Given the description of an element on the screen output the (x, y) to click on. 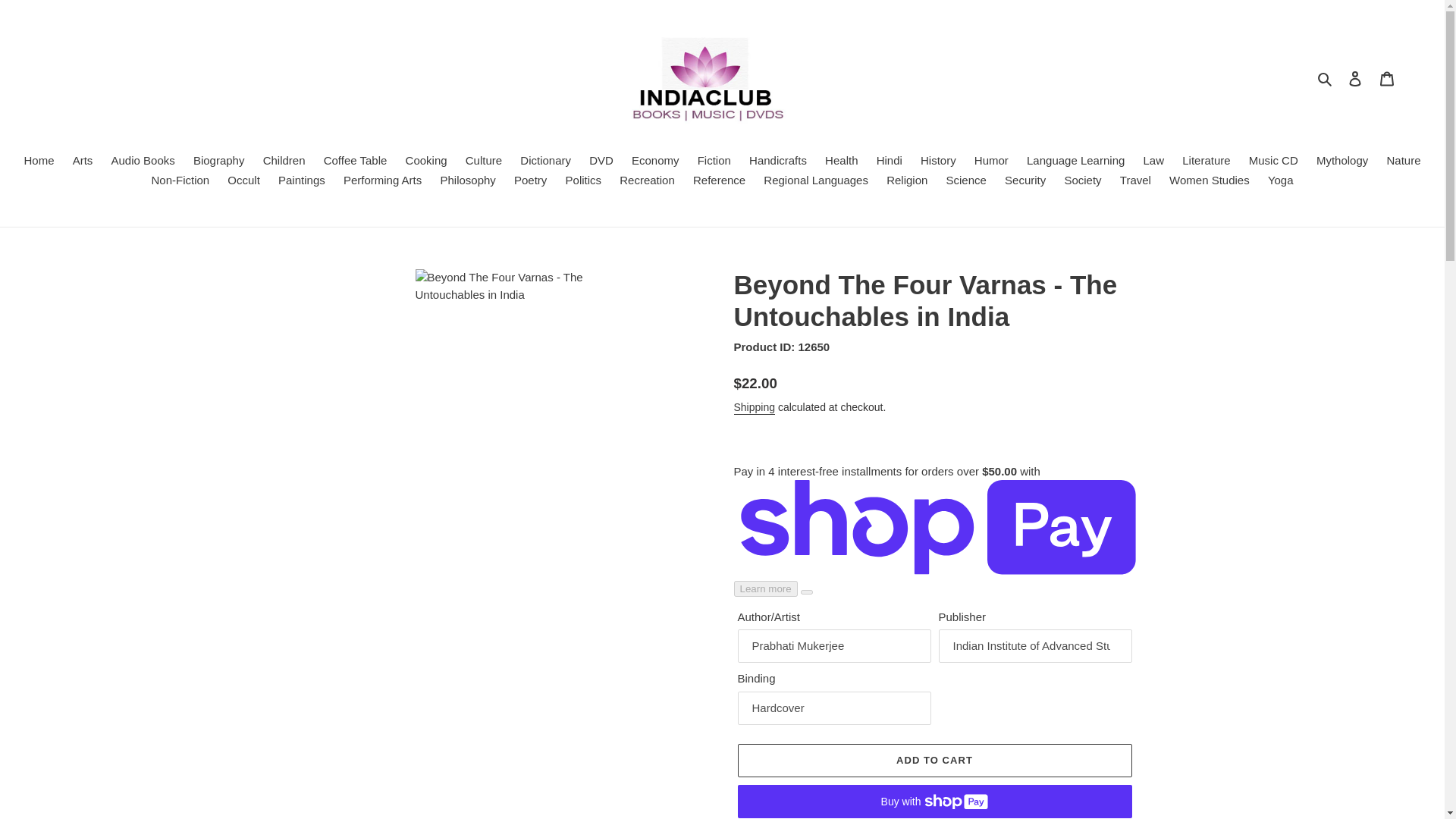
Search (1326, 77)
Log in (1355, 78)
Cart (1387, 78)
